Given the description of an element on the screen output the (x, y) to click on. 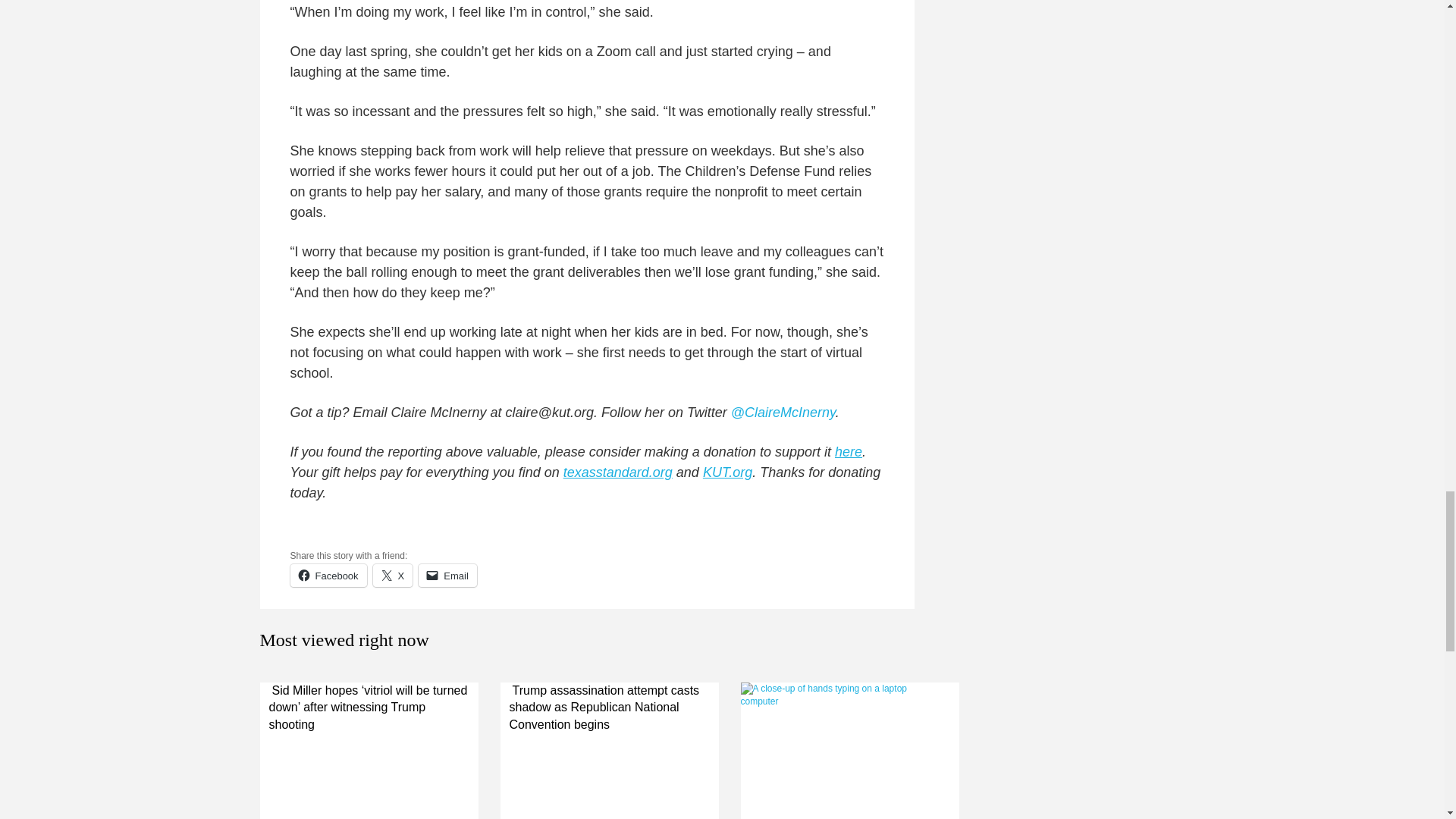
Click to share on Facebook (327, 575)
Click to email a link to a friend (448, 575)
Click to share on X (392, 575)
